Given the description of an element on the screen output the (x, y) to click on. 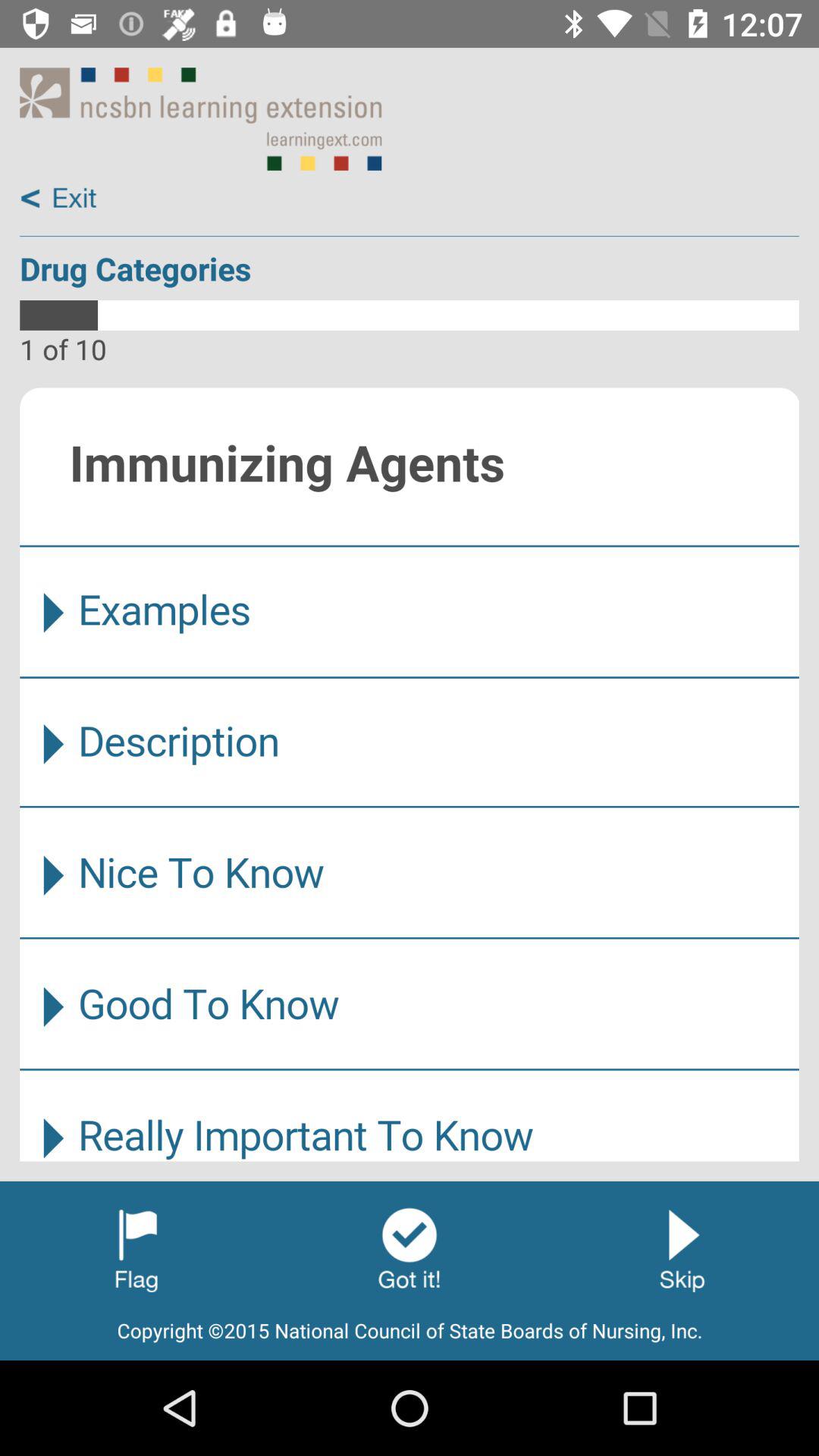
skip the current page (682, 1248)
